Given the description of an element on the screen output the (x, y) to click on. 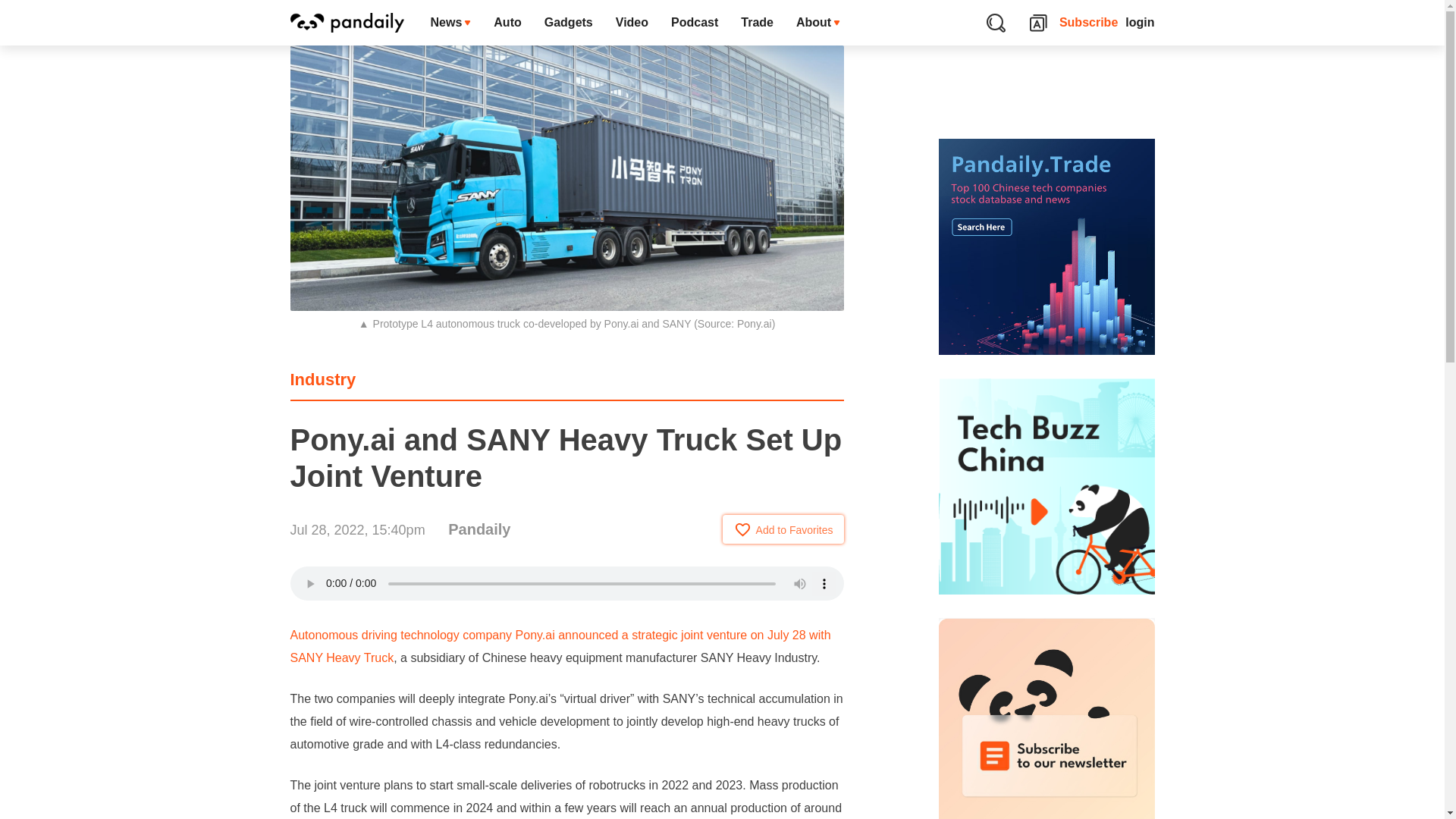
Auto (506, 22)
Gadgets (568, 22)
Trade (756, 22)
Jul 28, 2022, 15:40pm (357, 529)
Industry (322, 379)
News (450, 22)
Podcast (694, 22)
Video (631, 22)
About (817, 22)
Pandaily (479, 528)
login (1139, 22)
Subscribe (1088, 22)
Add to Favorites (783, 529)
